Given the description of an element on the screen output the (x, y) to click on. 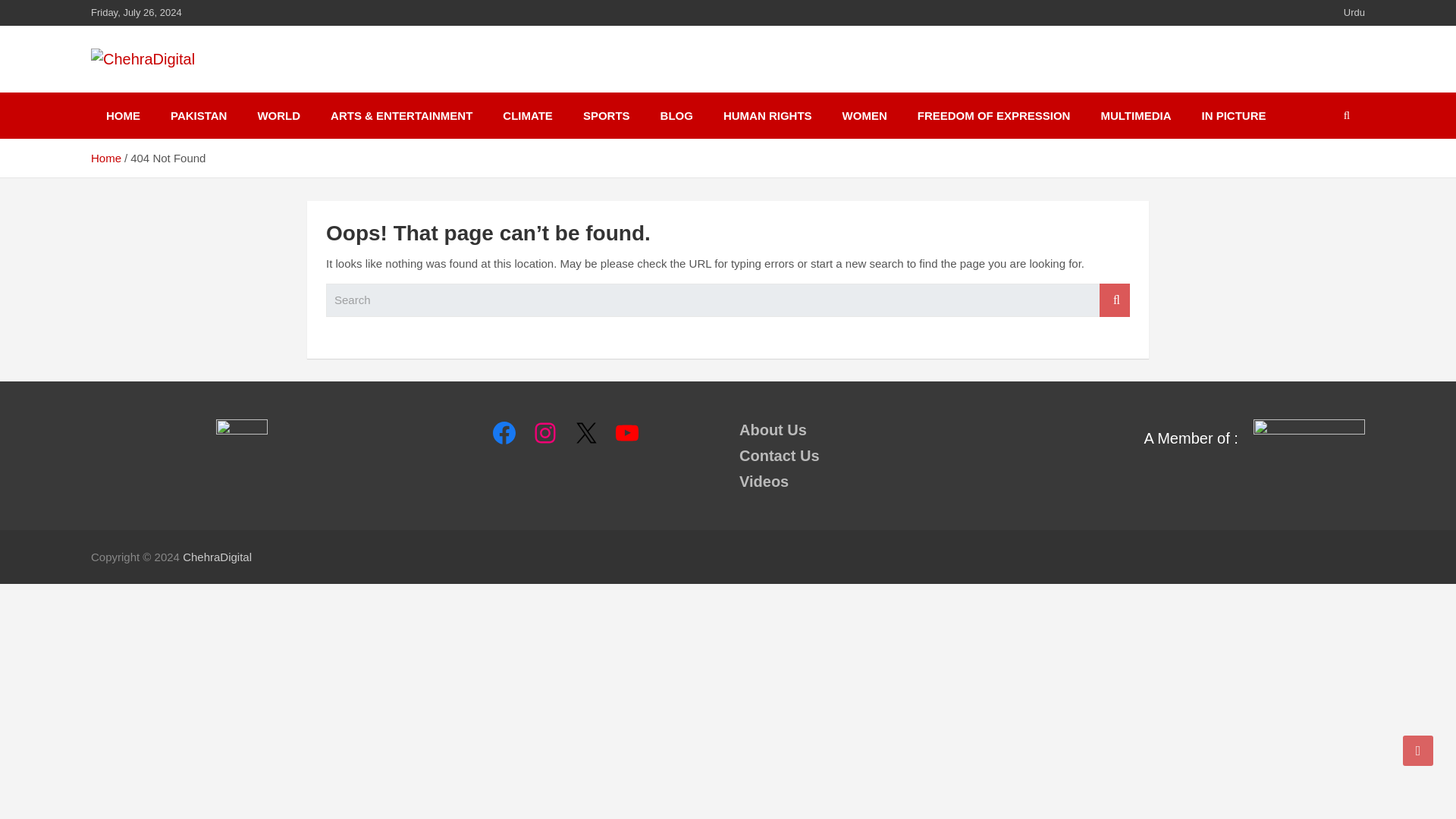
BLOG (676, 115)
Instagram (545, 432)
Contact Us (779, 455)
Search (1114, 300)
PAKISTAN (198, 115)
YouTube (626, 432)
ChehraDigital (217, 556)
HUMAN RIGHTS (767, 115)
X (585, 432)
MULTIMEDIA (1135, 115)
Home (105, 157)
ChehraDigital (217, 556)
Urdu (1354, 12)
Videos (764, 481)
IN PICTURE (1233, 115)
